Given the description of an element on the screen output the (x, y) to click on. 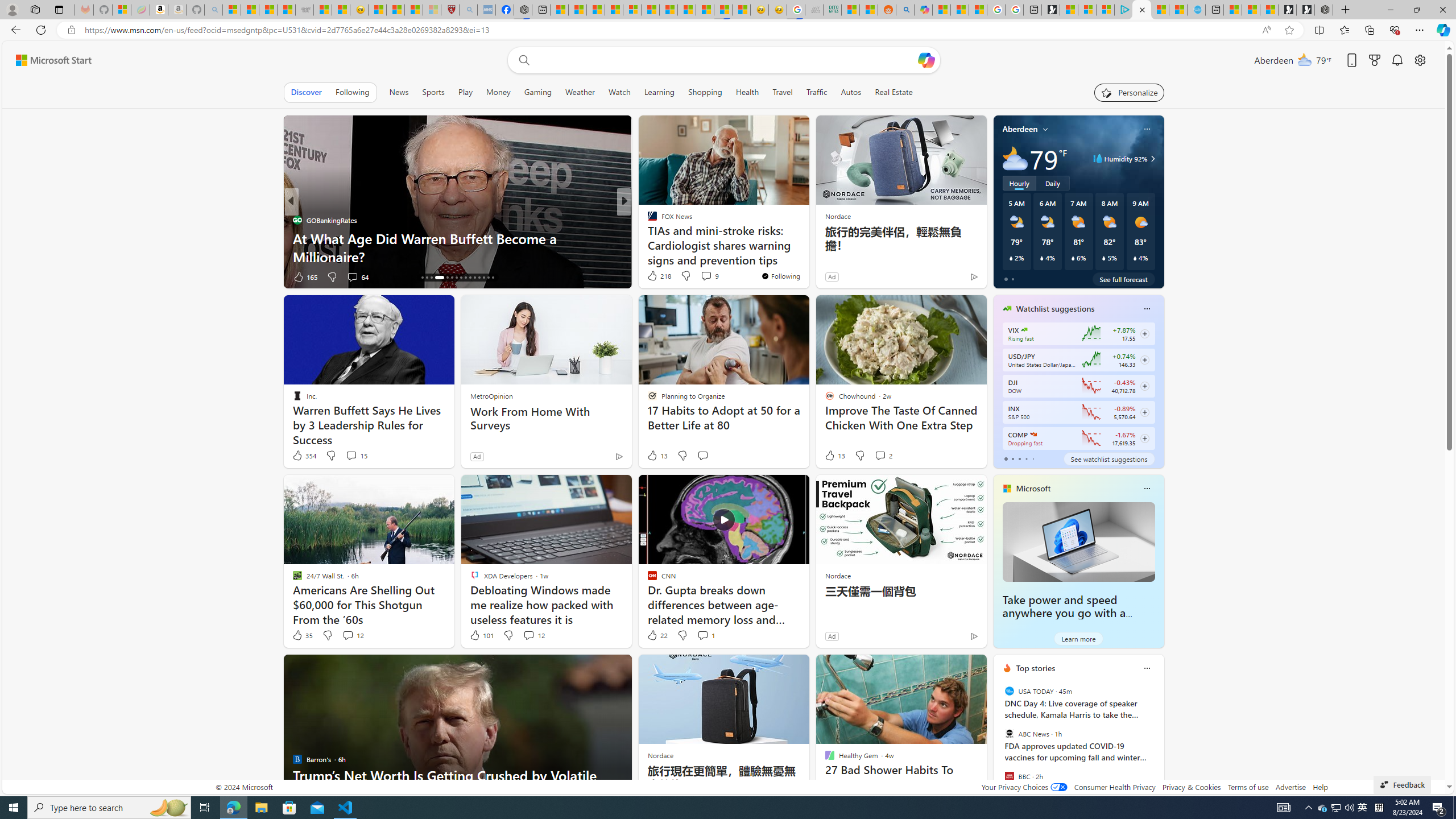
View comments 34 Comment (703, 276)
AutomationID: tab-29 (488, 277)
218 Like (658, 275)
My location (1045, 128)
35 Like (301, 634)
